Given the description of an element on the screen output the (x, y) to click on. 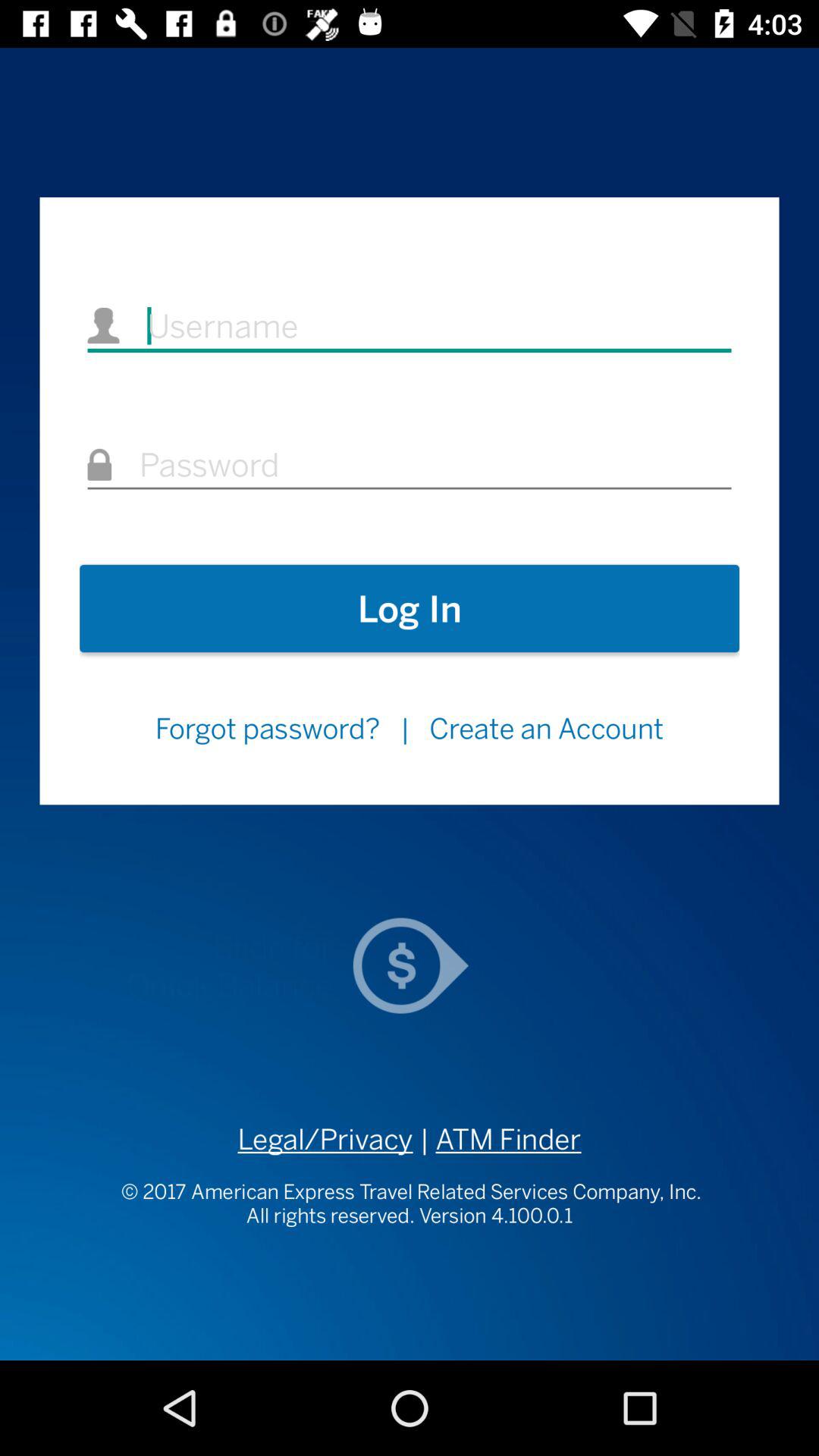
launch the item next to the | (266, 728)
